Given the description of an element on the screen output the (x, y) to click on. 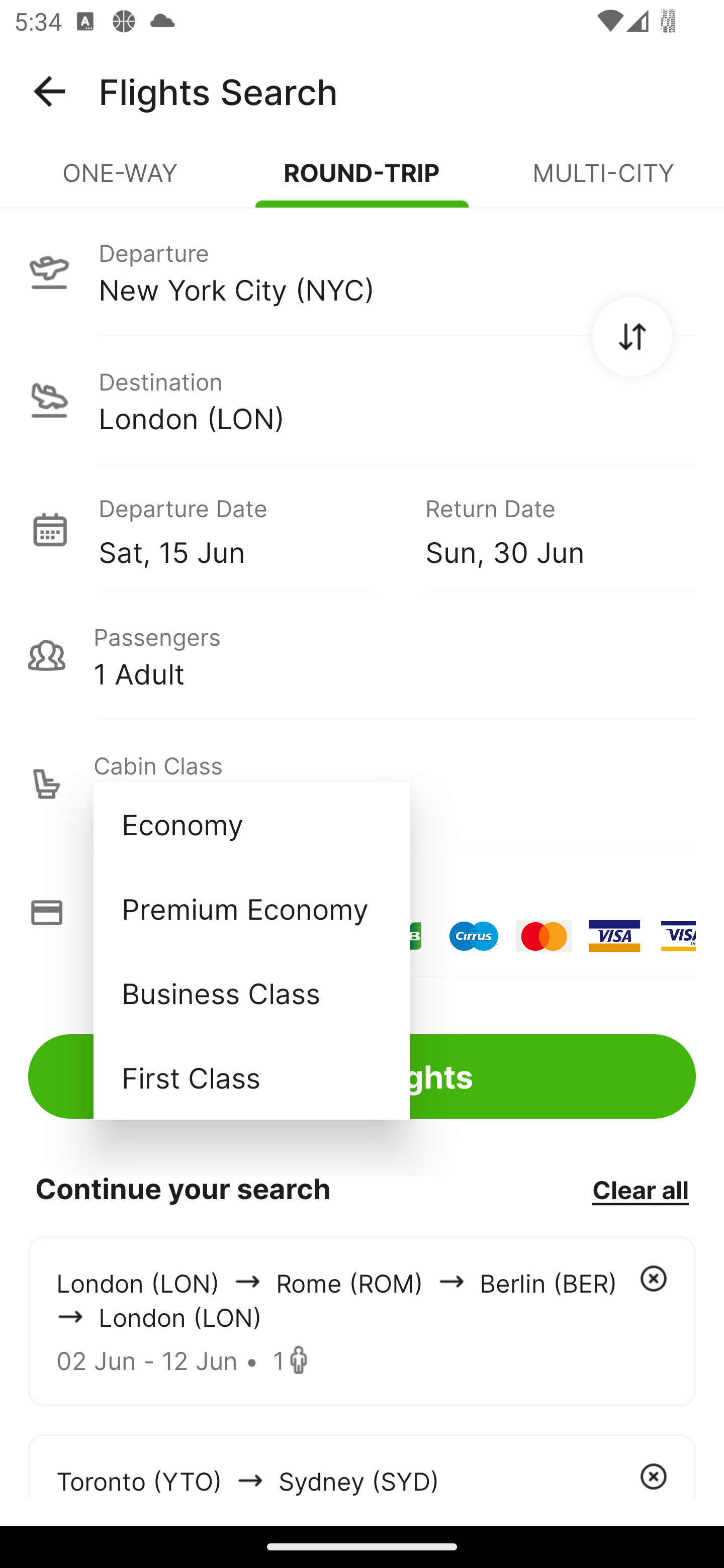
Economy (251, 824)
Premium Economy (251, 908)
Business Class (251, 992)
First Class (251, 1076)
